Given the description of an element on the screen output the (x, y) to click on. 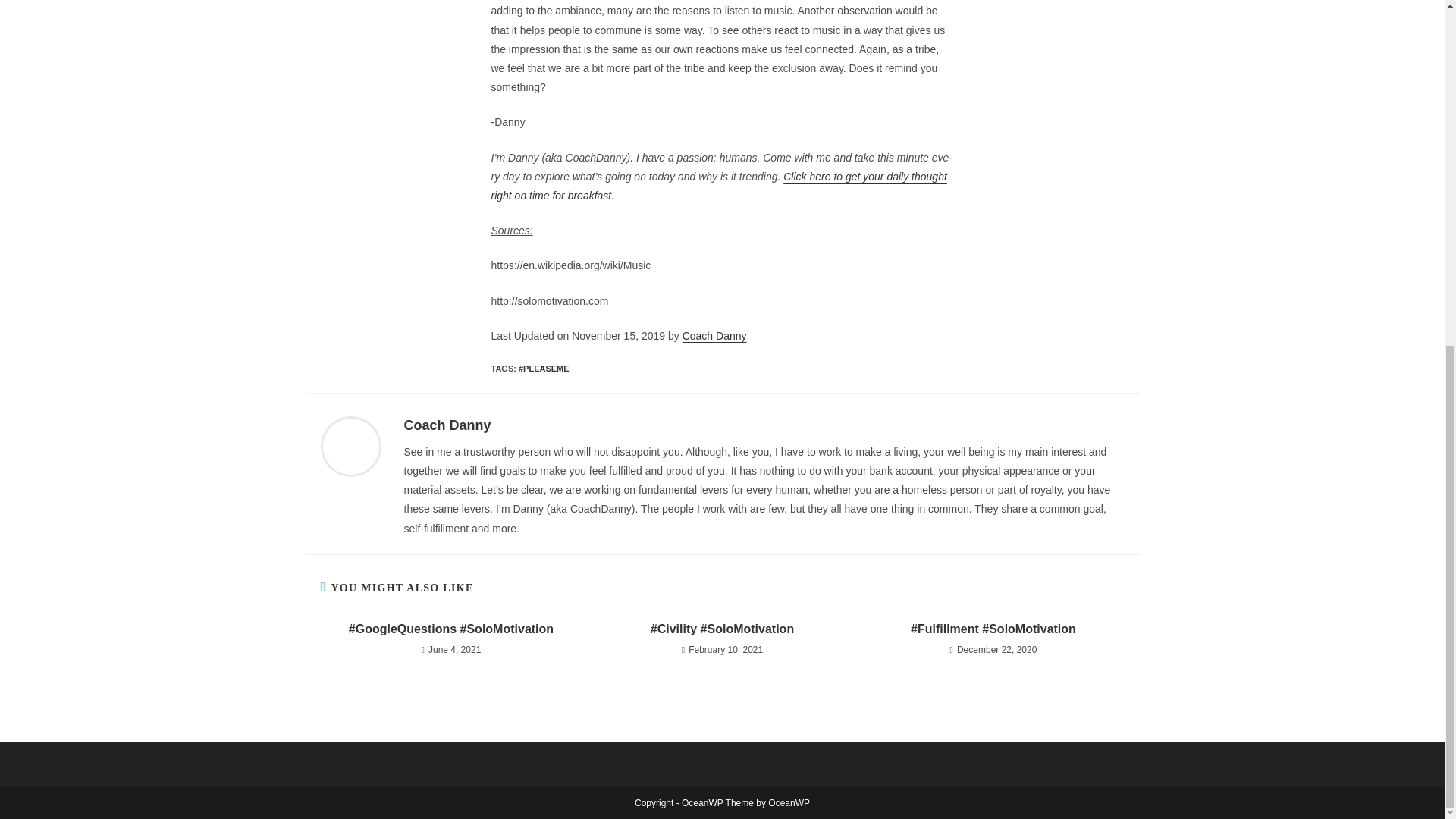
Visit author page (350, 444)
Visit author page (446, 425)
Coach Danny (446, 425)
